Given the description of an element on the screen output the (x, y) to click on. 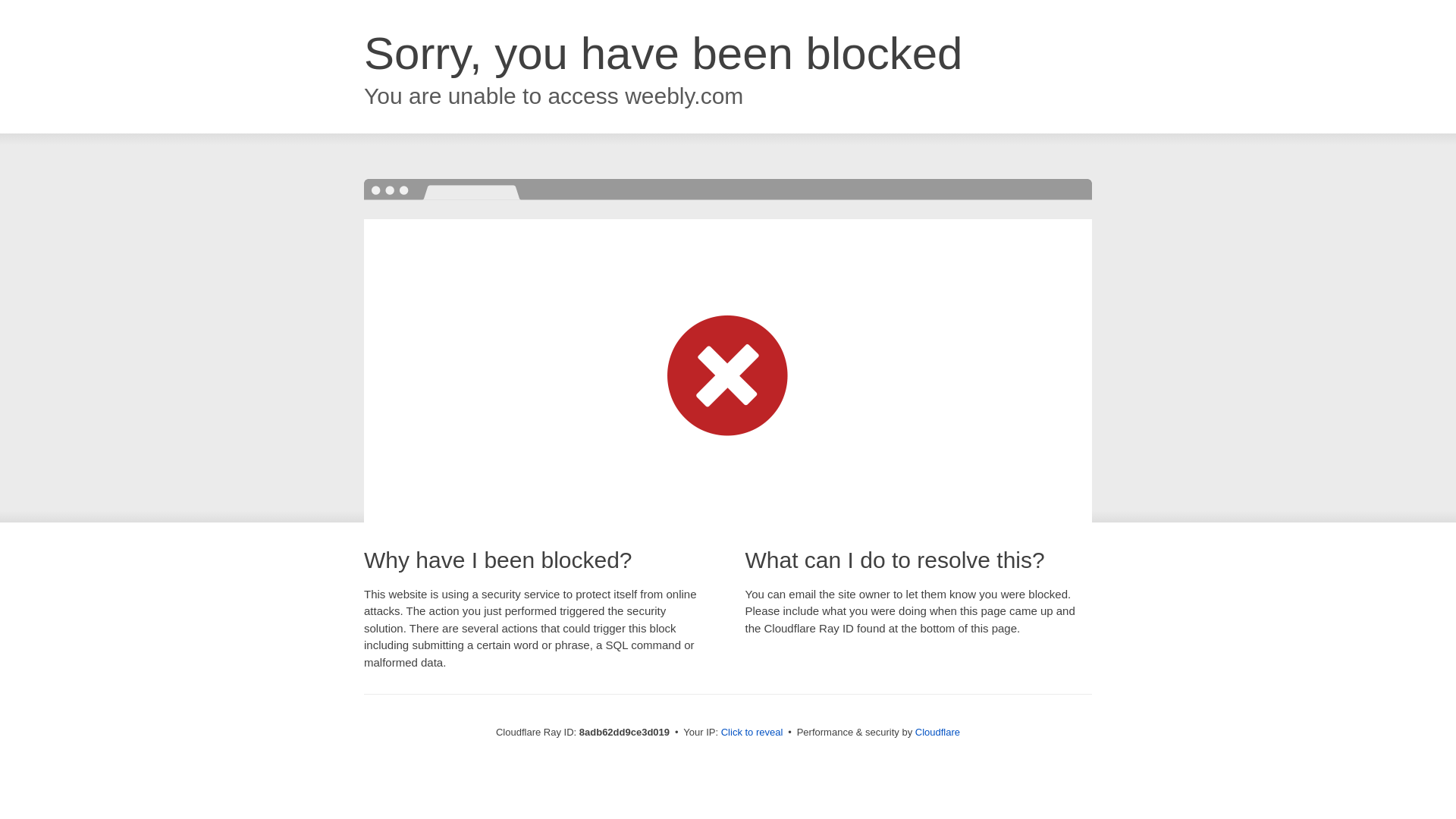
Cloudflare (937, 731)
Click to reveal (751, 732)
